Given the description of an element on the screen output the (x, y) to click on. 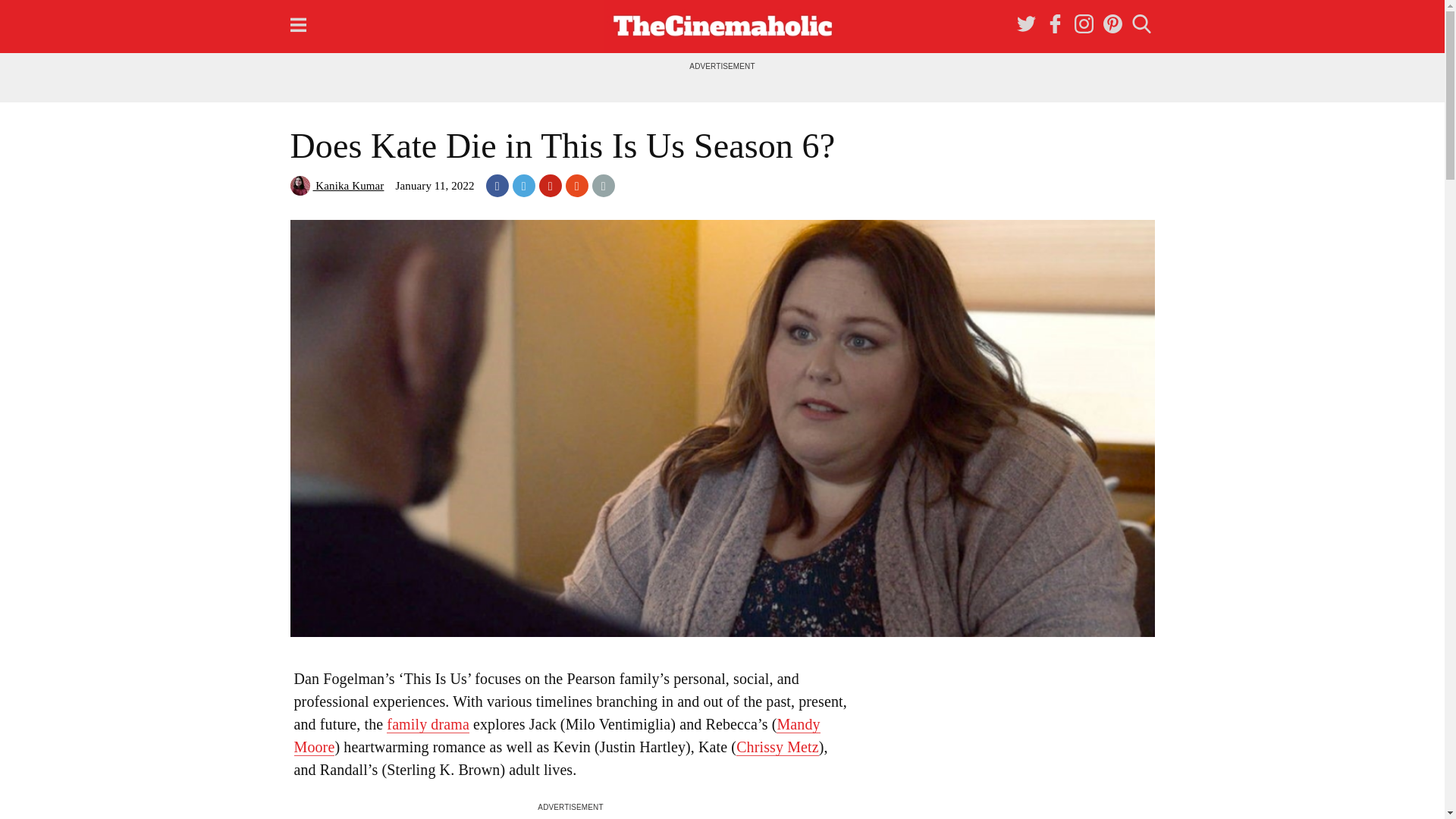
Chrissy Metz (777, 746)
family drama (427, 724)
Mandy Moore (557, 735)
Kanika Kumar (336, 185)
